Given the description of an element on the screen output the (x, y) to click on. 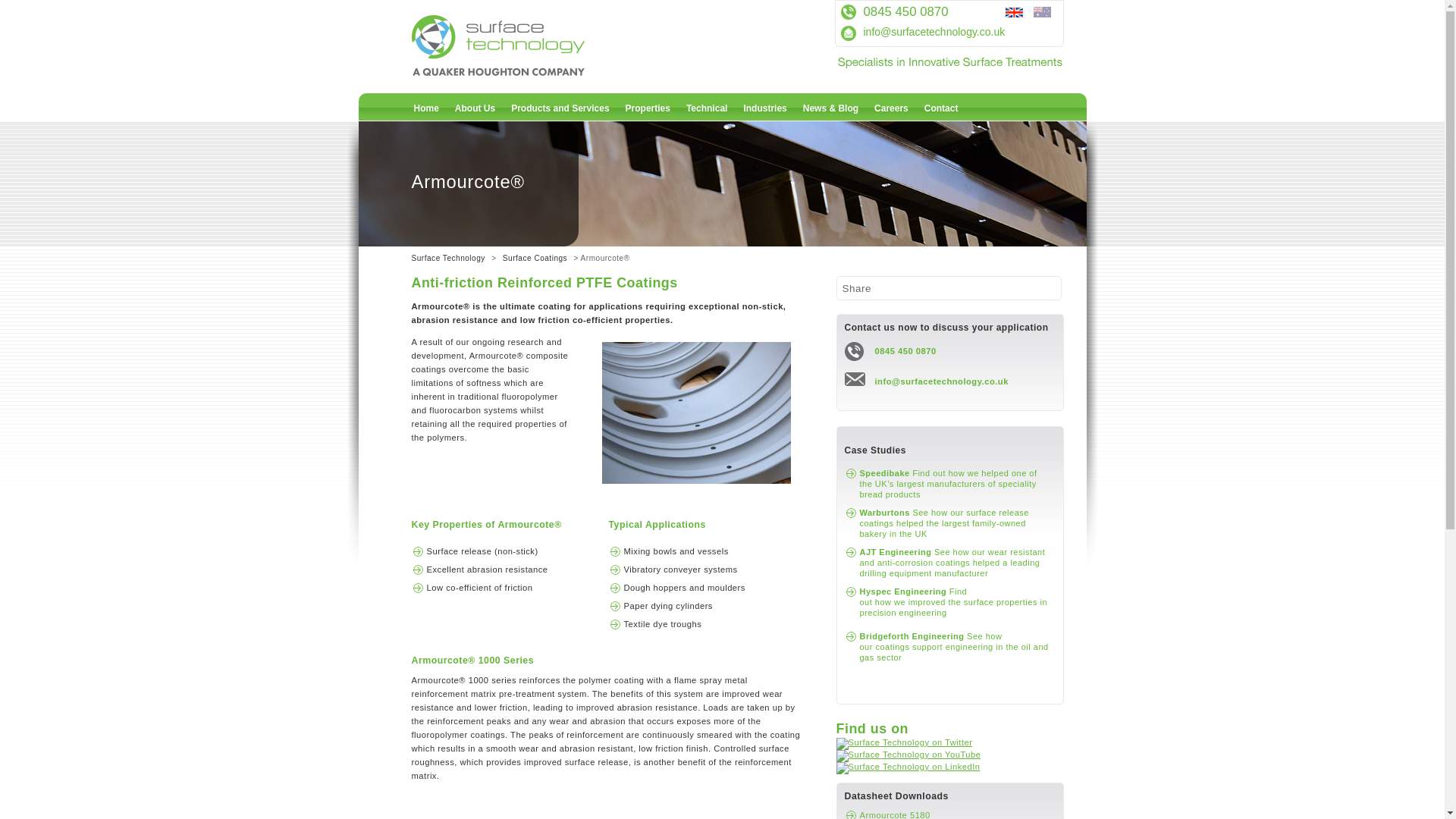
Surface Technology on Twitter (903, 741)
Warburtons (944, 522)
Surface Technology on LinkedIn (907, 766)
About Us (474, 108)
Home (426, 108)
Hyspec Engineering (954, 601)
Go to Surface Coatings. (534, 257)
Products and Services (559, 108)
Surface Technology on YouTube (907, 754)
Go to Surface Technology. (447, 257)
Surface Technology (531, 71)
Speedibake (948, 482)
Armourcote 5180 (895, 814)
AJT Engineering (952, 562)
Surface Technology AU (1045, 13)
